Given the description of an element on the screen output the (x, y) to click on. 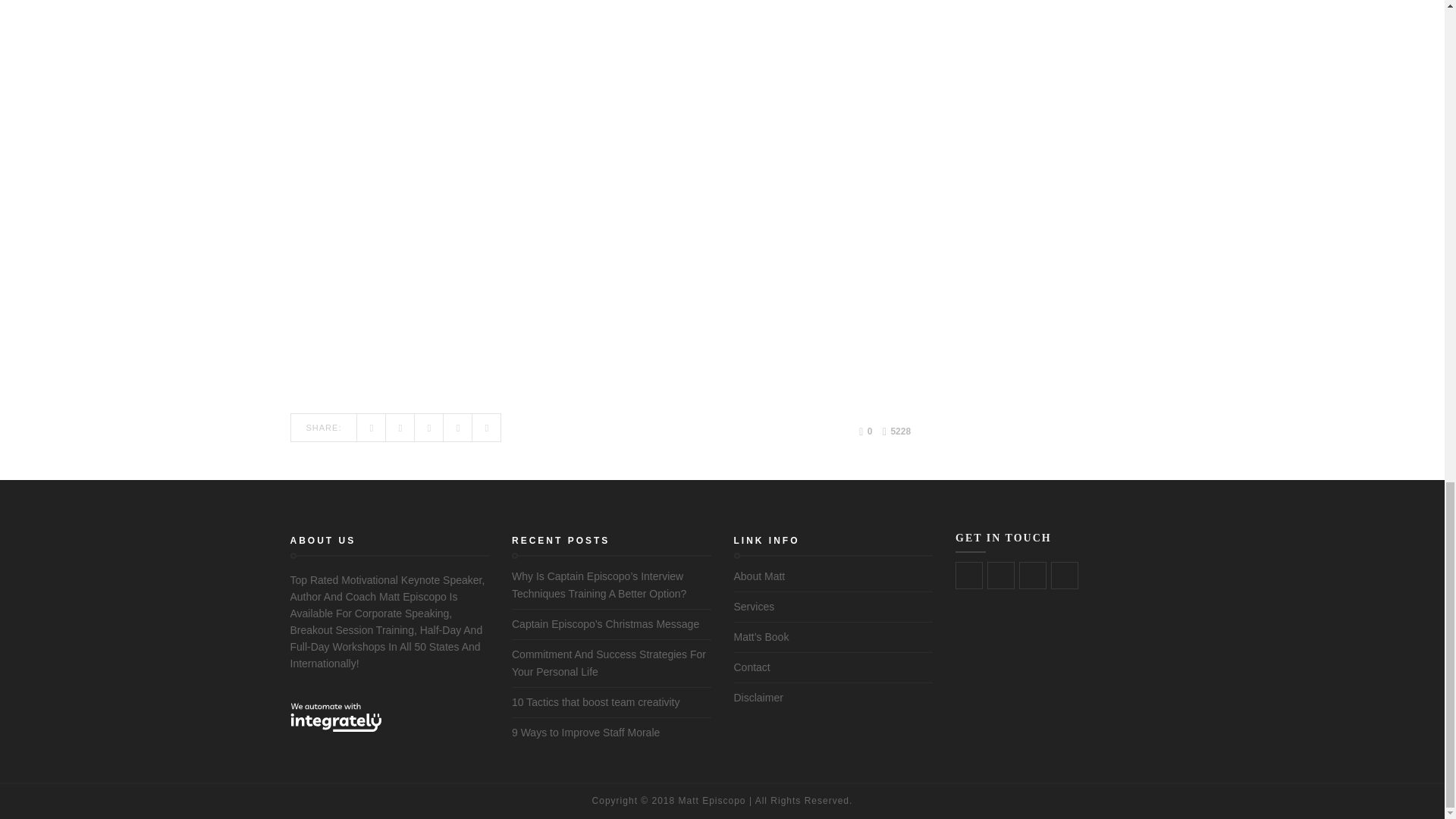
Post Views (896, 431)
Love this (865, 430)
